Given the description of an element on the screen output the (x, y) to click on. 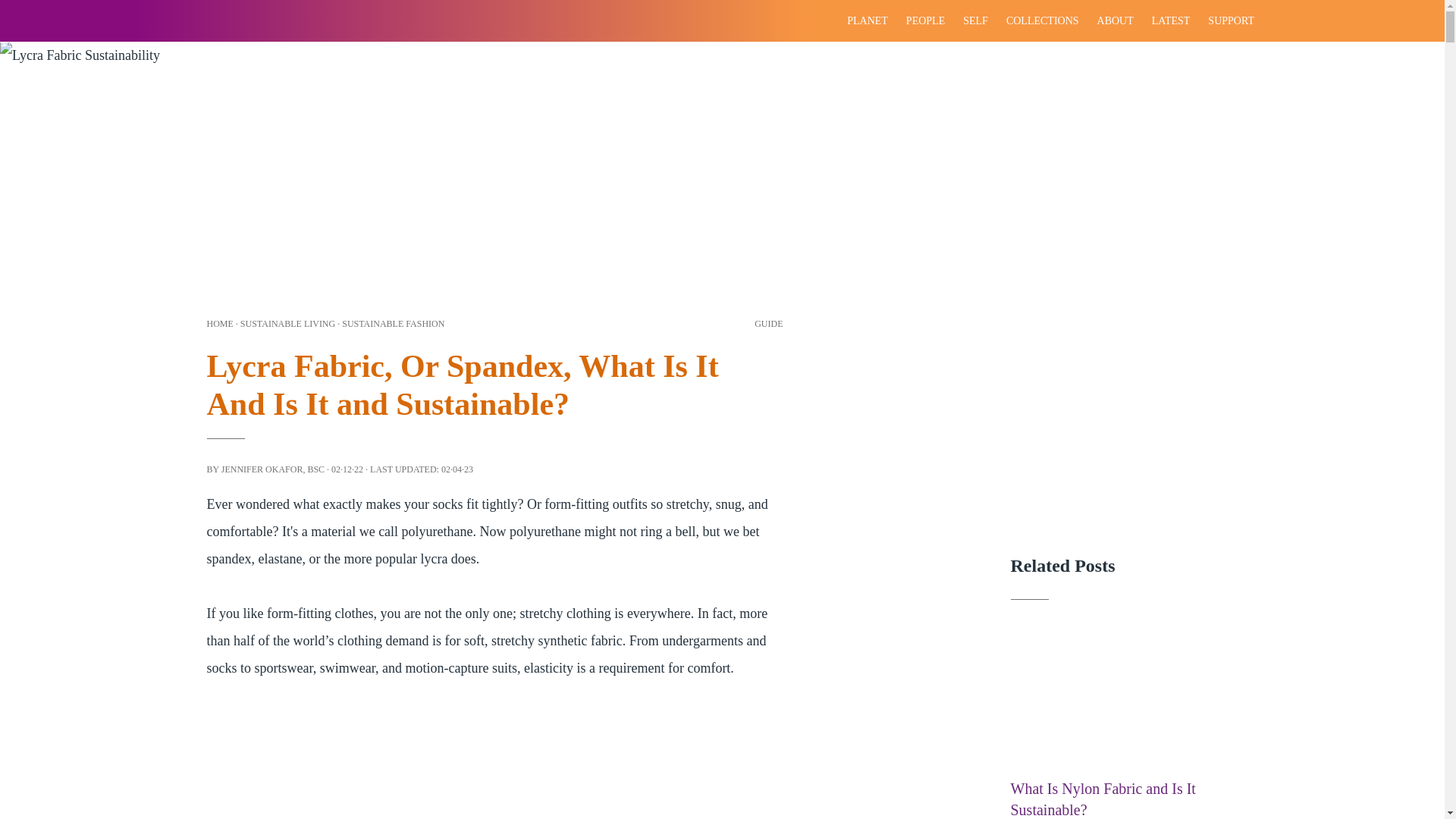
ABOUT (1114, 20)
SELF (975, 20)
PLANET (867, 20)
PEOPLE (924, 20)
COLLECTIONS (1042, 20)
